Given the description of an element on the screen output the (x, y) to click on. 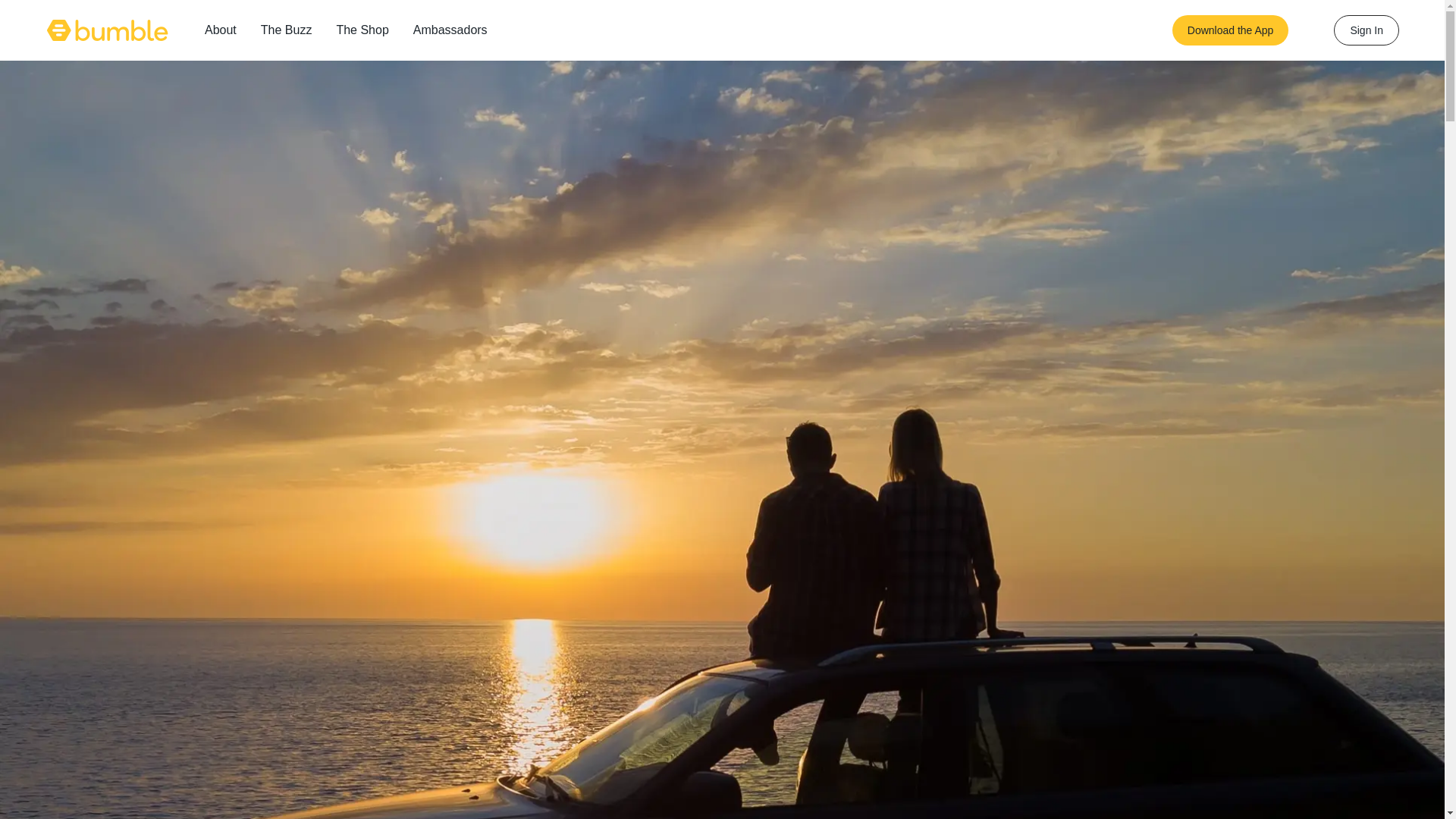
Sign In (1366, 30)
The Shop (362, 29)
The Buzz (286, 29)
About (220, 29)
Download the App (1230, 30)
Ambassadors (450, 29)
